Given the description of an element on the screen output the (x, y) to click on. 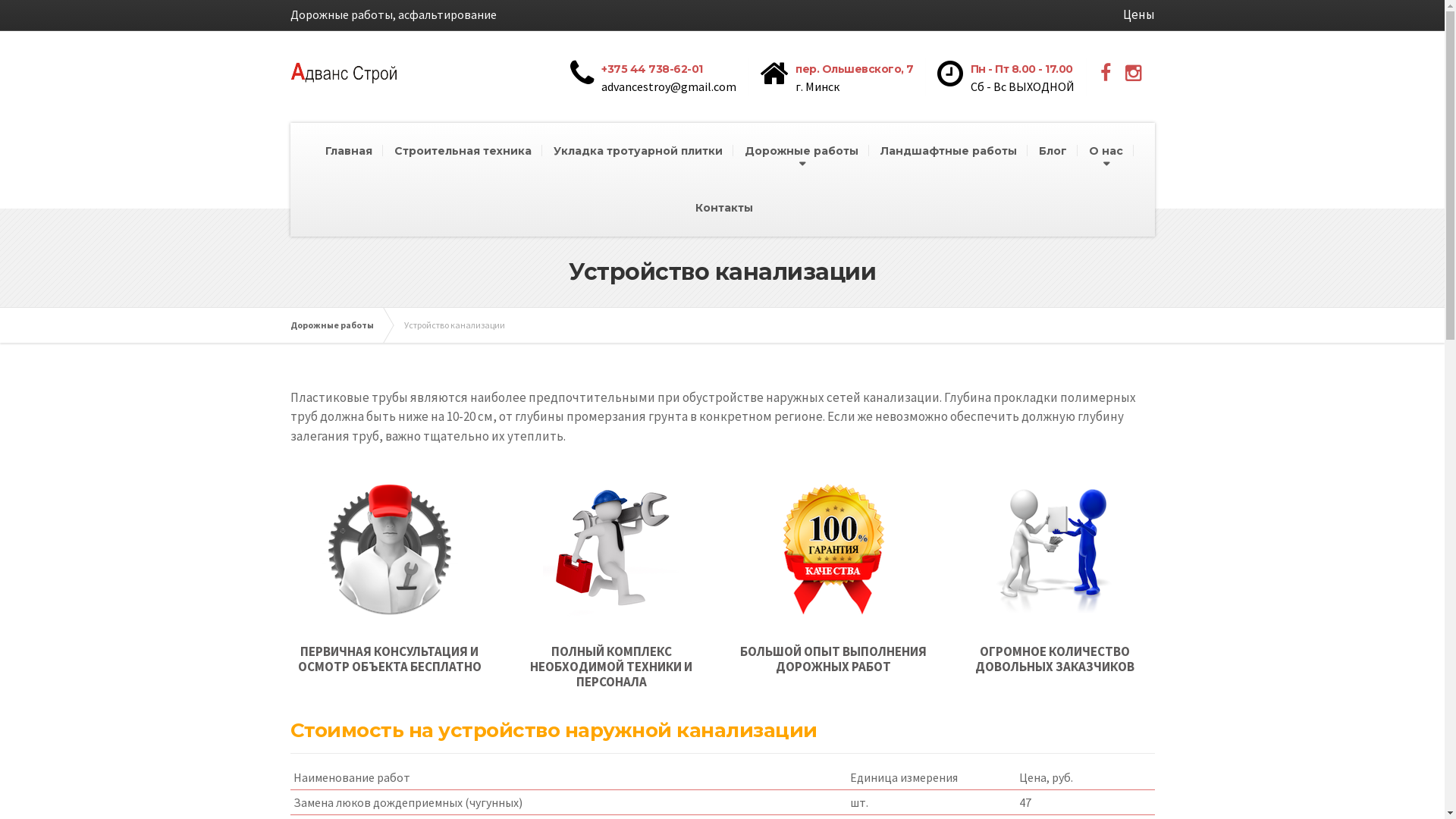
+375 44 738-62-01
advancestroy@gmail.com Element type: text (659, 75)
